Given the description of an element on the screen output the (x, y) to click on. 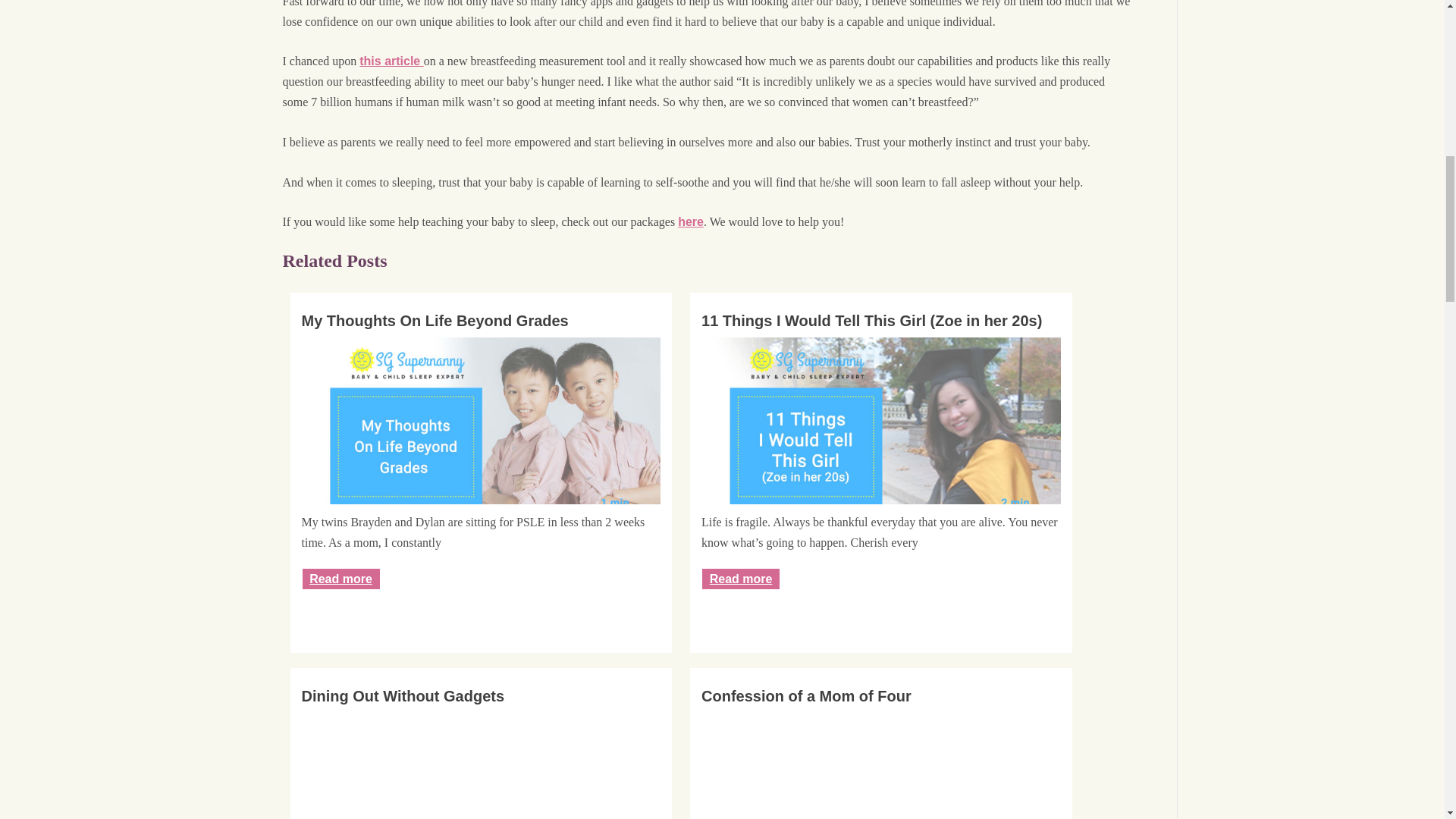
Confession of a Mom of Four (881, 696)
My Thoughts On Life Beyond Grades (481, 436)
My Thoughts On Life Beyond Grades (481, 321)
Dining Out Without Gadgets (481, 696)
